Given the description of an element on the screen output the (x, y) to click on. 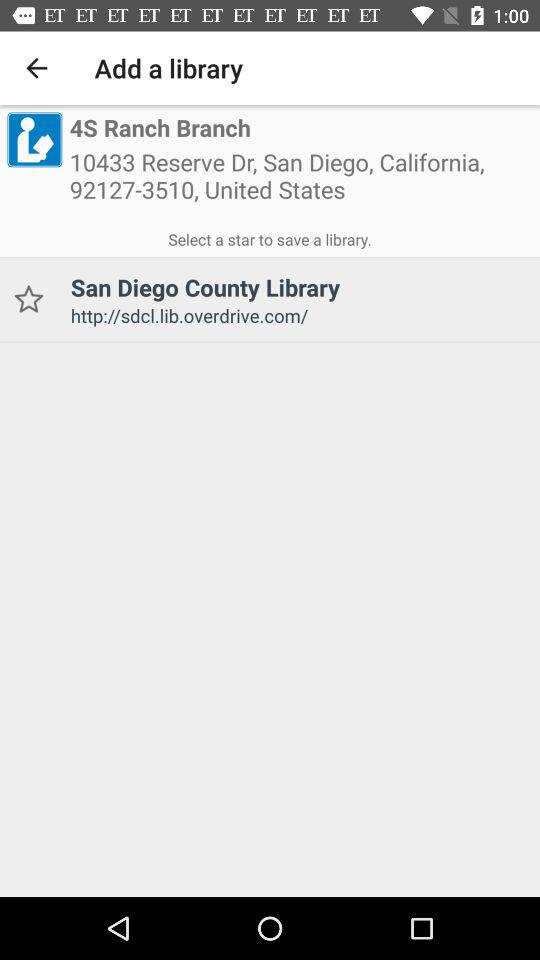
launch icon to the left of san diego county (28, 299)
